Given the description of an element on the screen output the (x, y) to click on. 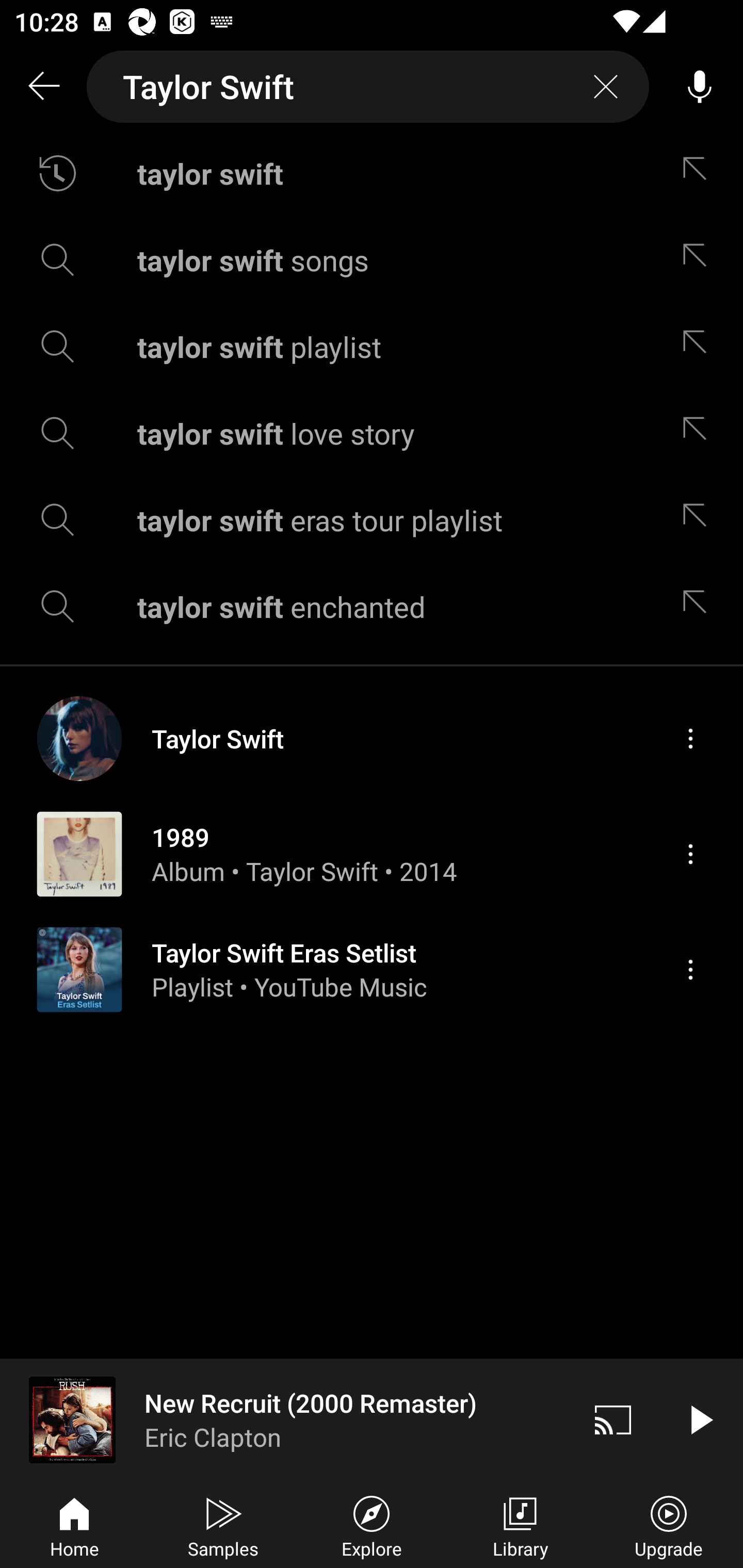
Search back (43, 86)
Taylor Swift (367, 86)
Clear search (605, 86)
Voice search (699, 86)
taylor swift Edit suggestion taylor swift (371, 173)
Edit suggestion taylor swift (699, 173)
Edit suggestion taylor swift songs (699, 259)
Edit suggestion taylor swift playlist (699, 346)
Edit suggestion taylor swift love story (699, 433)
Edit suggestion taylor swift eras tour playlist (699, 519)
Edit suggestion taylor swift enchanted (699, 605)
Menu (690, 738)
Menu (690, 854)
Menu (690, 968)
New Recruit (2000 Remaster) Eric Clapton (284, 1419)
Cast. Disconnected (612, 1419)
Play video (699, 1419)
Home (74, 1524)
Samples (222, 1524)
Explore (371, 1524)
Library (519, 1524)
Upgrade (668, 1524)
